Given the description of an element on the screen output the (x, y) to click on. 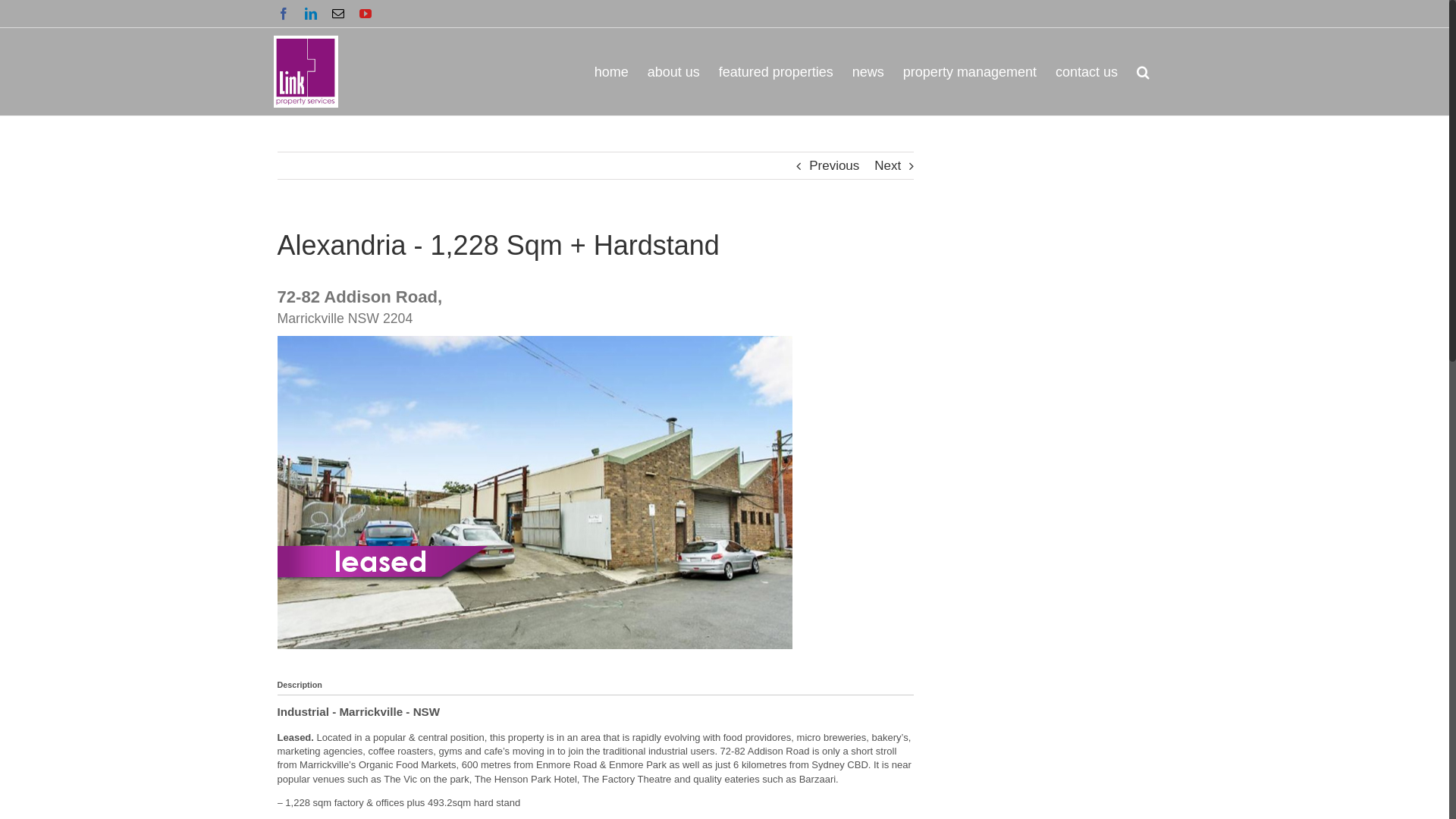
LinkedIn Element type: text (310, 13)
Email Element type: text (338, 13)
Previous Element type: text (834, 165)
featured properties Element type: text (775, 70)
news Element type: text (868, 70)
property management Element type: text (969, 70)
Next Element type: text (887, 165)
Facebook Element type: text (283, 13)
Search Element type: hover (1142, 70)
contact us Element type: text (1086, 70)
about us Element type: text (673, 70)
YouTube Element type: text (365, 13)
home Element type: text (611, 70)
